Given the description of an element on the screen output the (x, y) to click on. 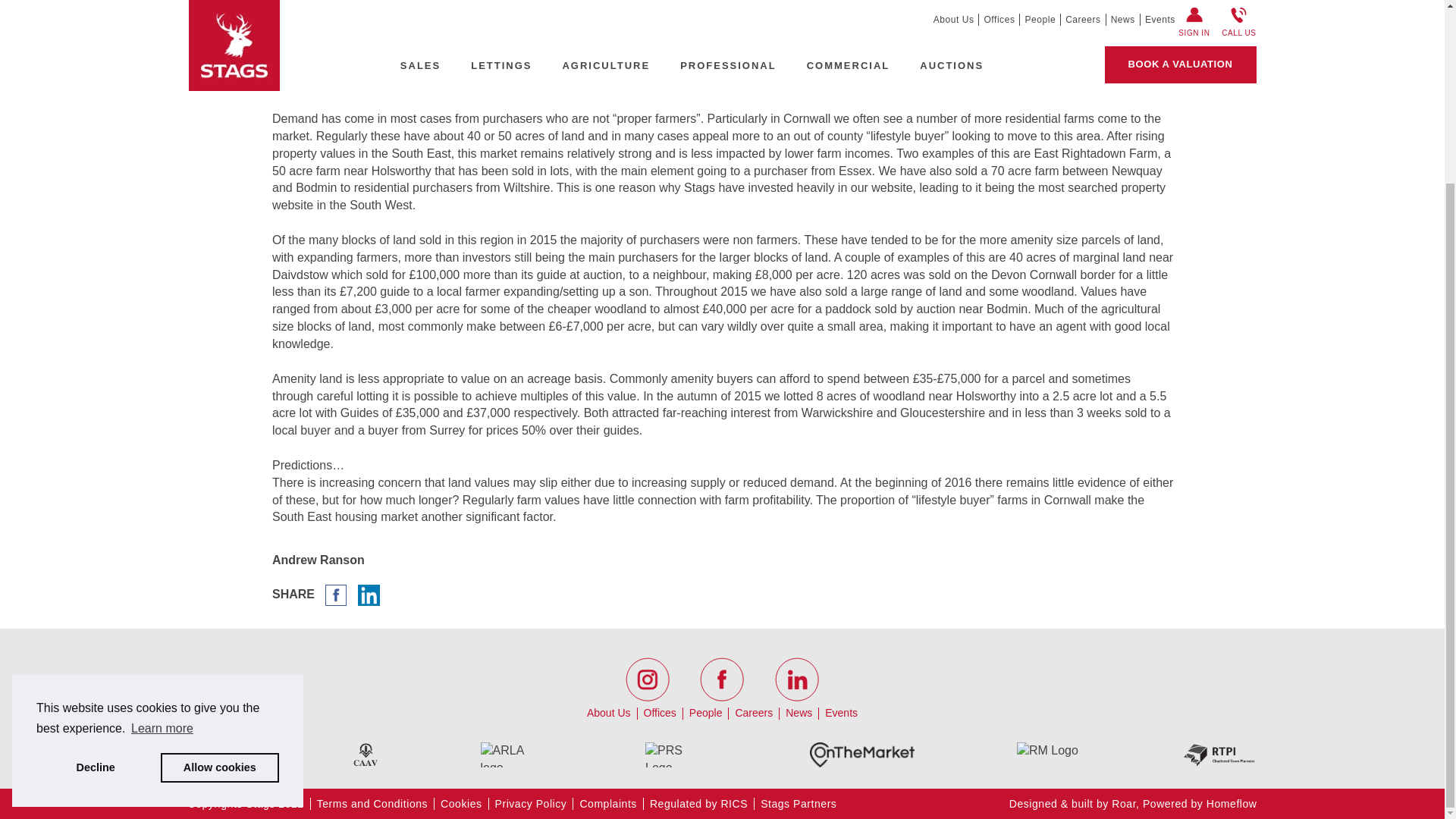
Share on Facebook (335, 594)
Decline (95, 541)
Allow cookies (219, 541)
Share on LinkedIn (369, 594)
Learn more (162, 502)
